Given the description of an element on the screen output the (x, y) to click on. 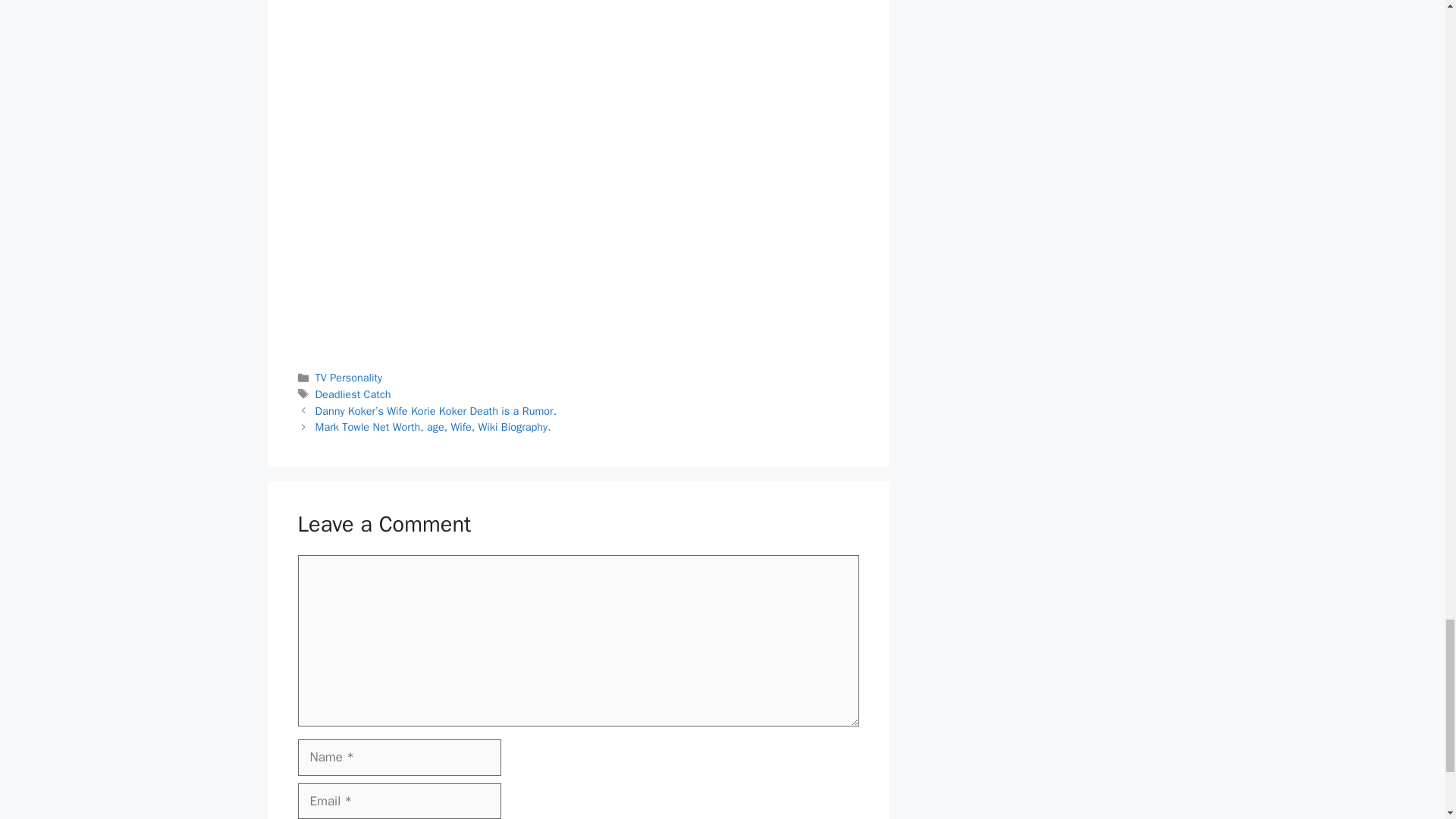
Deadliest Catch (353, 394)
Mark Towle Net Worth, age, Wife, Wiki Biography. (433, 427)
TV Personality (348, 377)
